Given the description of an element on the screen output the (x, y) to click on. 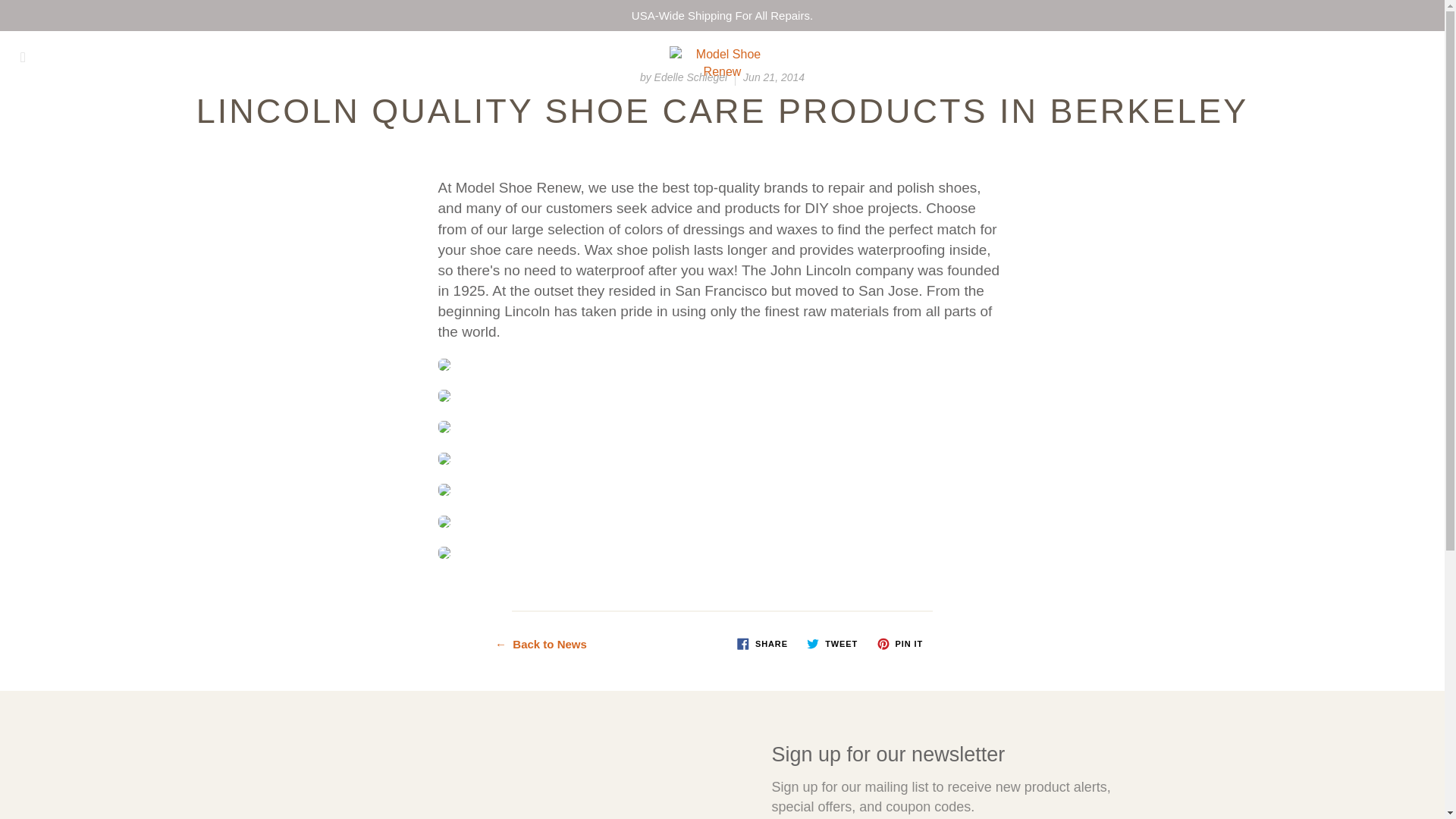
Share on Facebook (761, 643)
HOME (278, 141)
REPAIR (370, 141)
You have 0 items in your cart (1417, 56)
Search (28, 56)
My account (1379, 56)
Pin on Pinterest (899, 643)
Tweet on Twitter (831, 643)
